Given the description of an element on the screen output the (x, y) to click on. 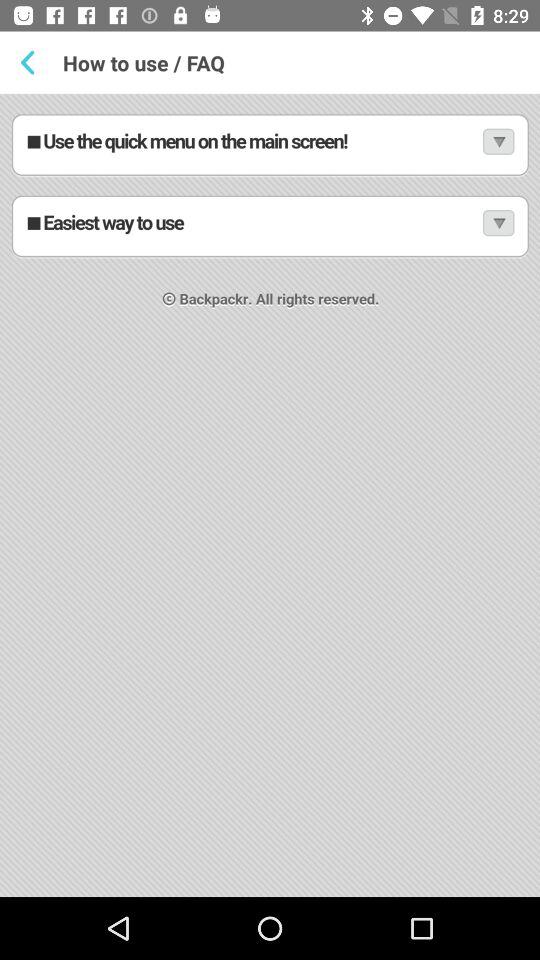
how to use and faq page (270, 495)
